Given the description of an element on the screen output the (x, y) to click on. 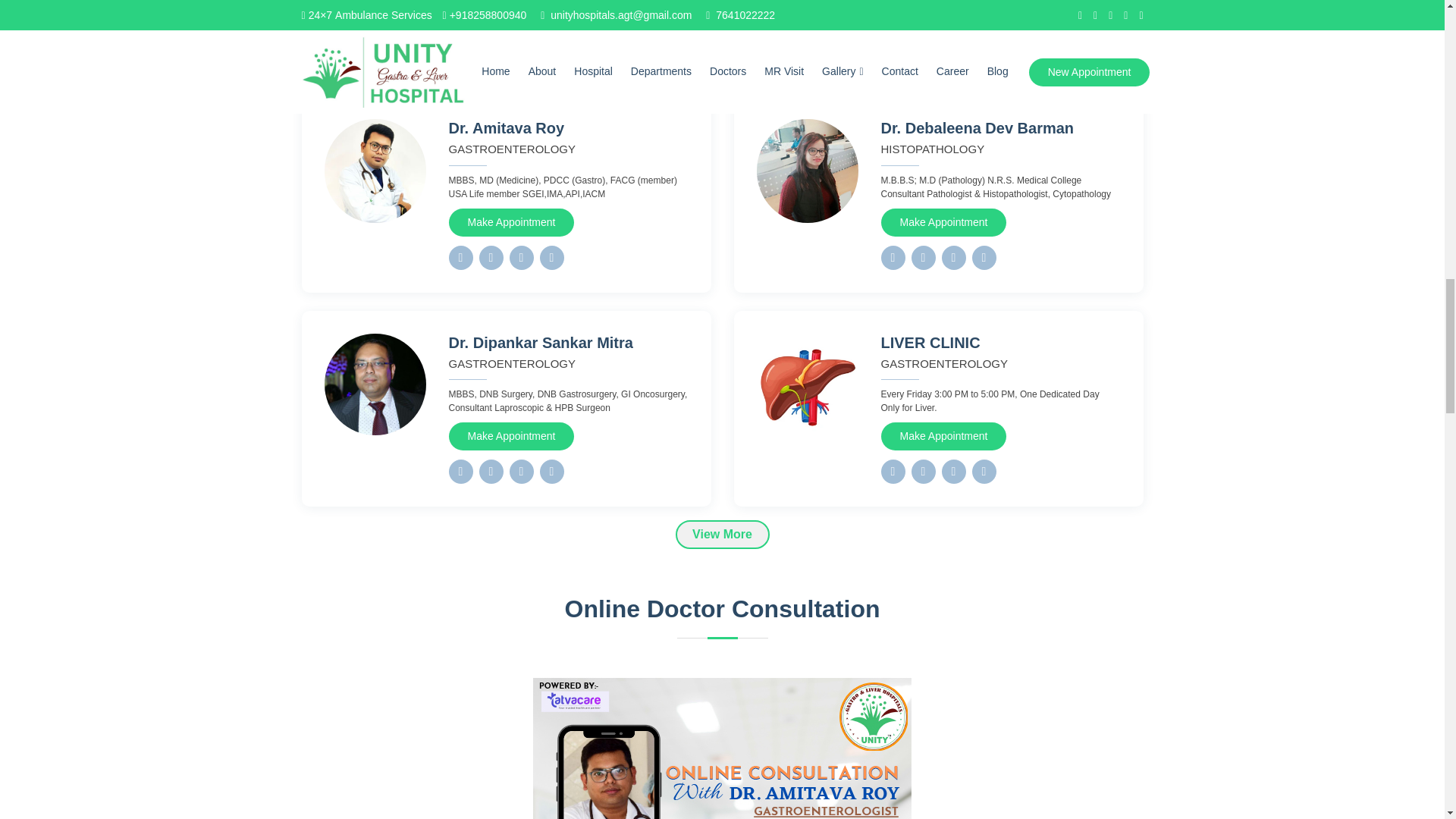
Make Appointment (943, 436)
Make Appointment (511, 436)
Make Appointment (511, 222)
Make Appointment (943, 222)
